Given the description of an element on the screen output the (x, y) to click on. 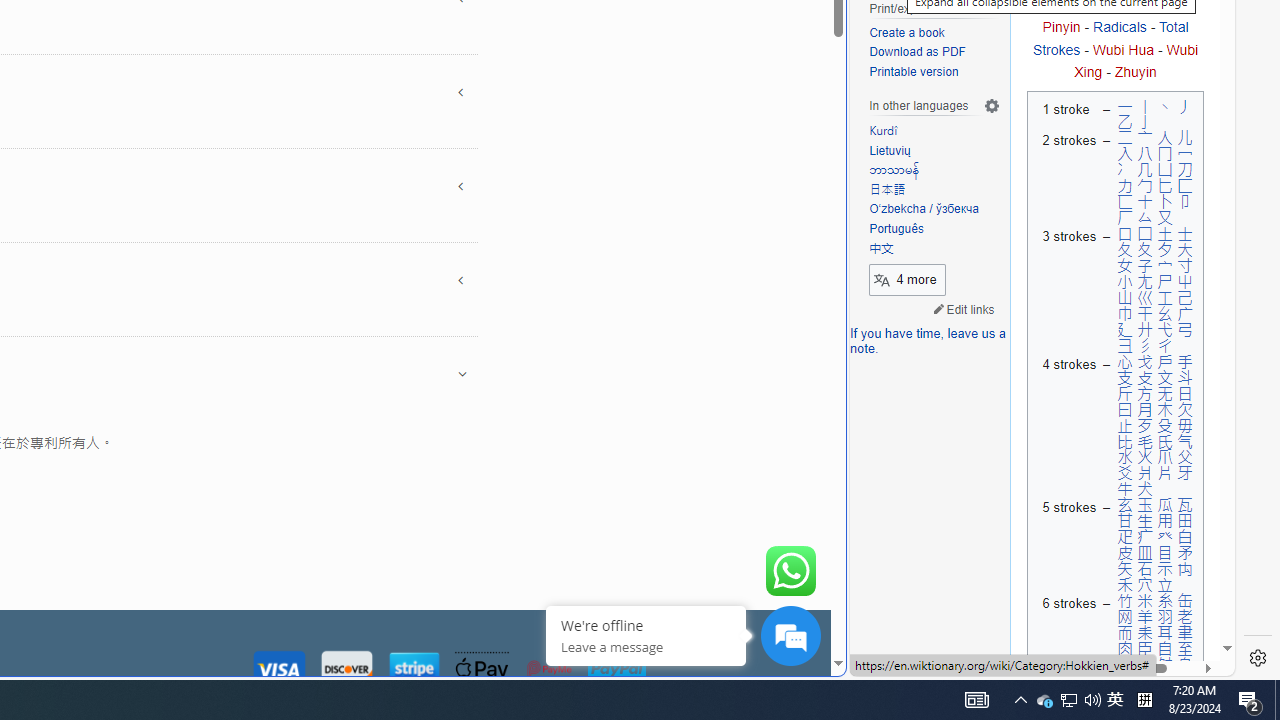
1 stroke (1065, 114)
4 strokes (1065, 425)
